Given the description of an element on the screen output the (x, y) to click on. 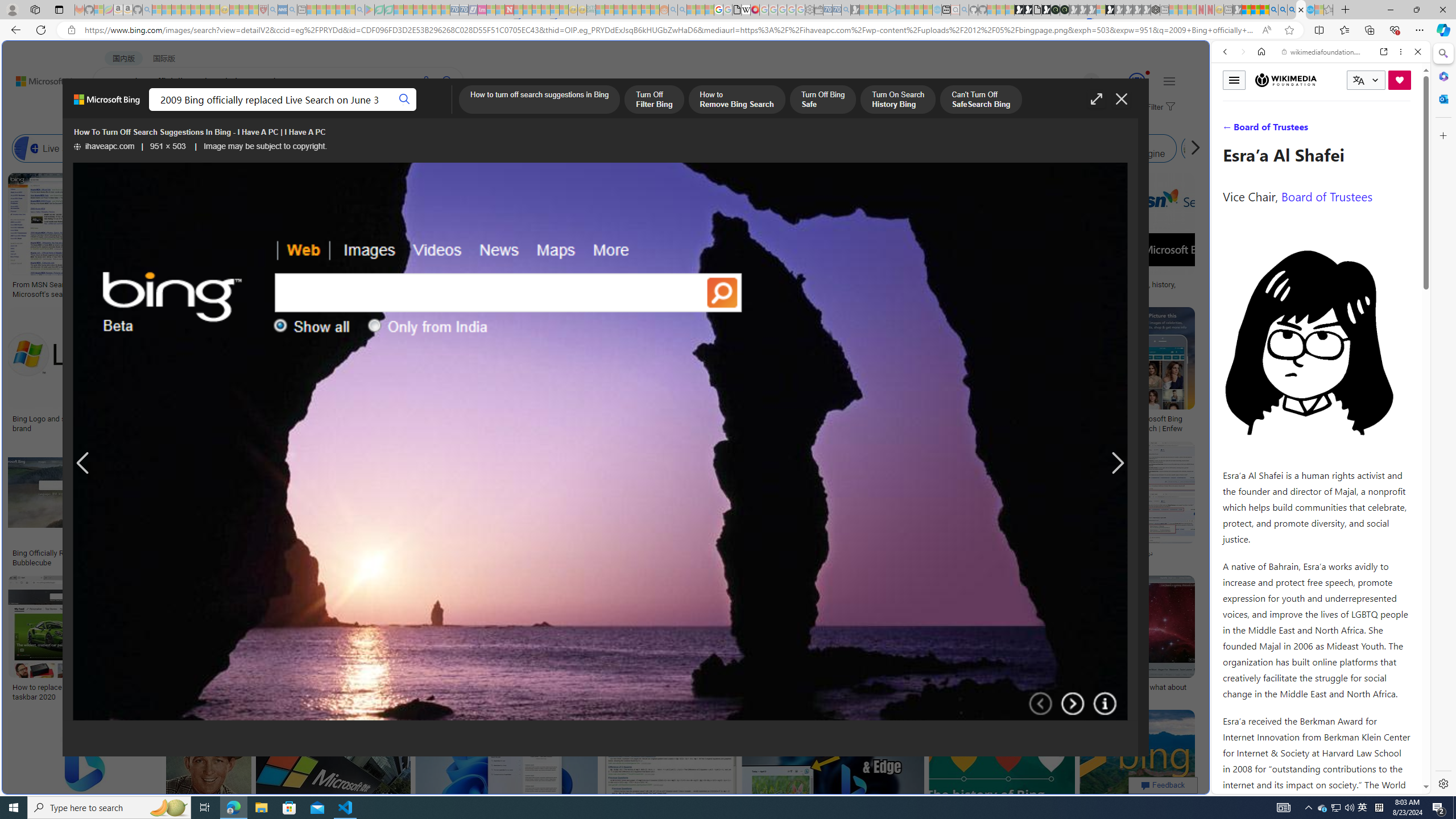
WEB (114, 111)
Bing Logo Design Evolution 2009 to 2016 | Smithographic (586, 288)
